Given the description of an element on the screen output the (x, y) to click on. 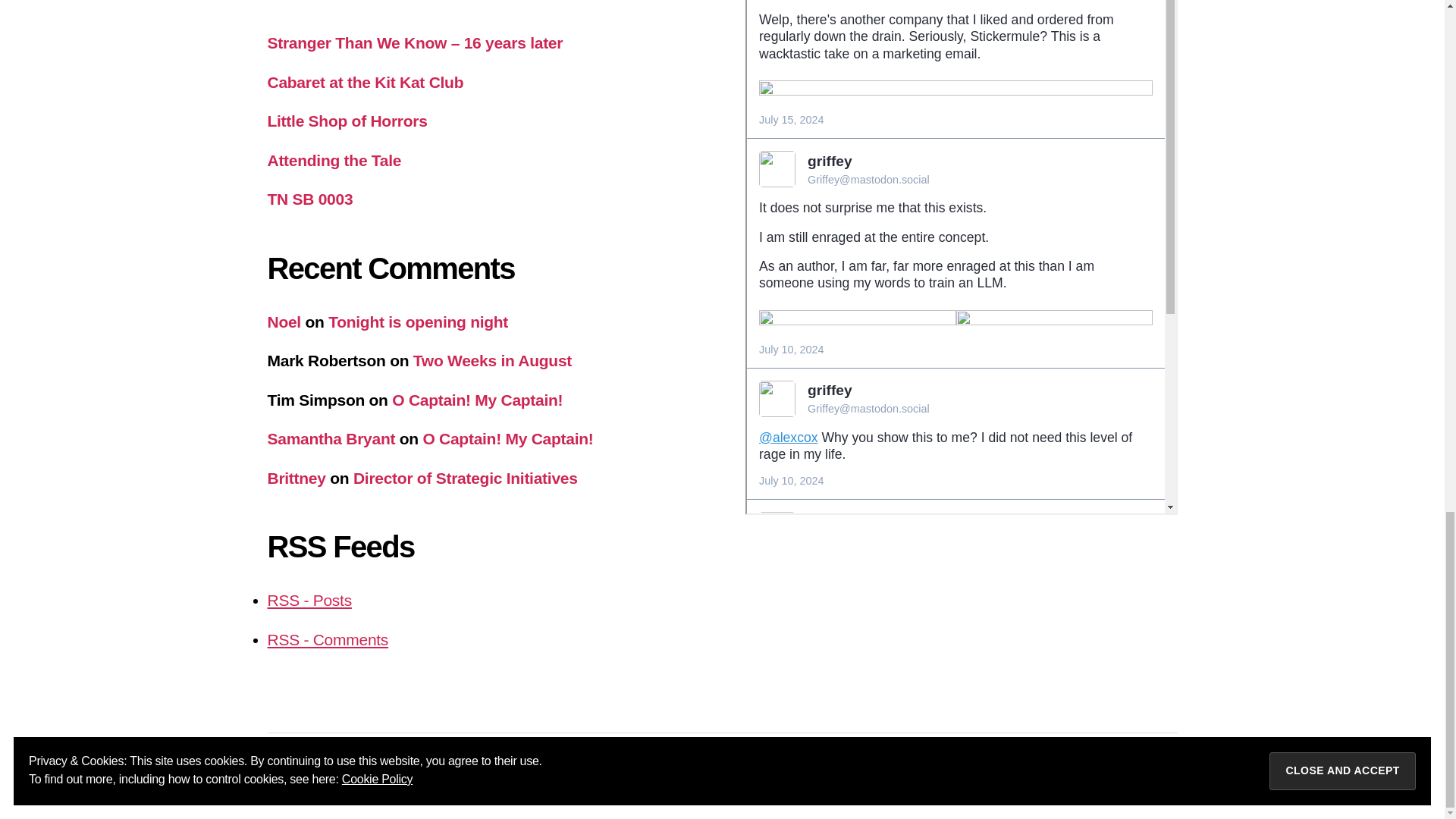
Subscribe to comments (327, 639)
Subscribe to posts (308, 600)
